Given the description of an element on the screen output the (x, y) to click on. 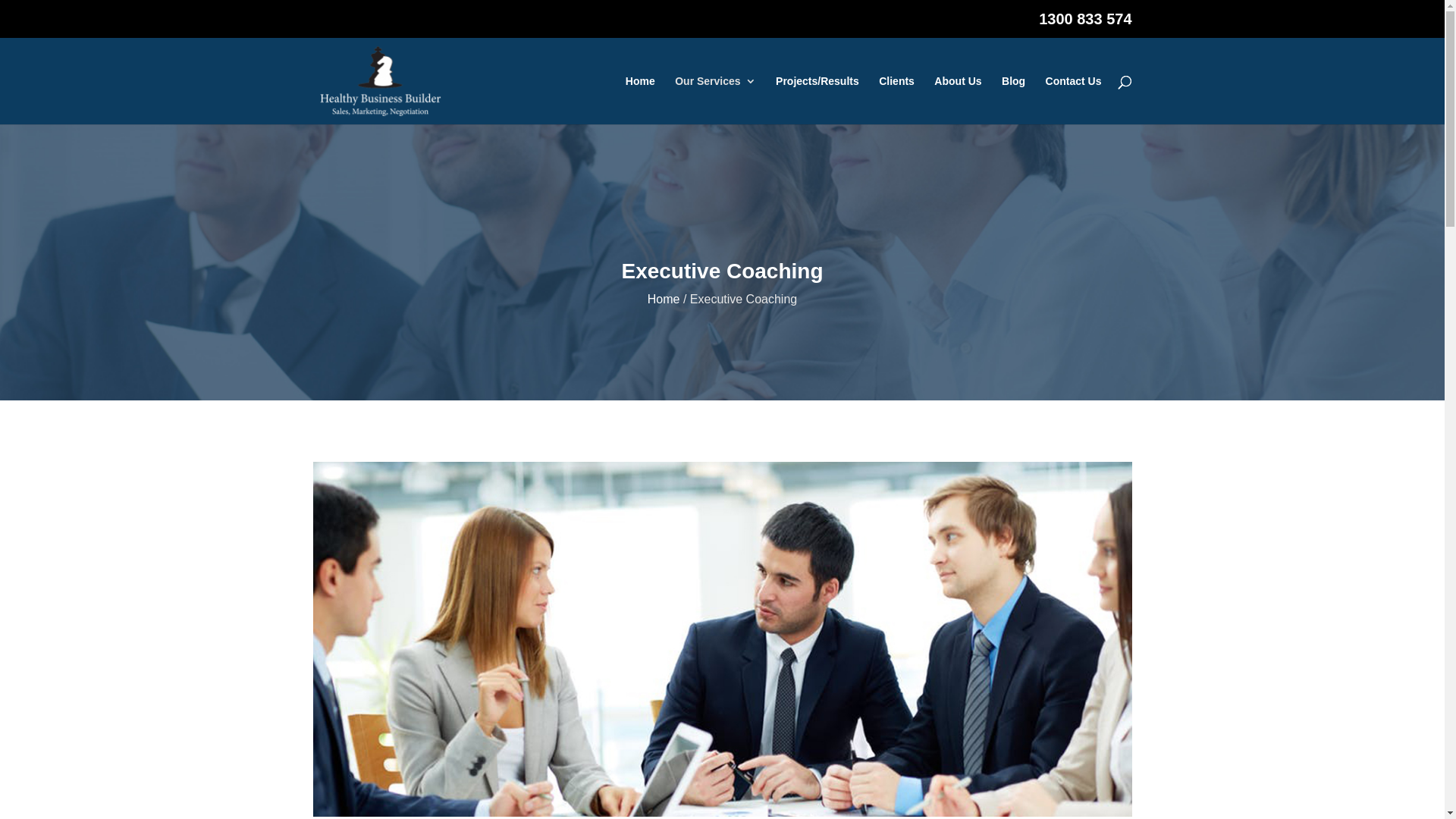
About Us Element type: text (957, 99)
Home Element type: text (640, 99)
1300 833 574 Element type: text (1084, 24)
Contact Us Element type: text (1073, 99)
Our Services Element type: text (714, 99)
Projects/Results Element type: text (817, 99)
Blog Element type: text (1013, 99)
Home Element type: text (663, 298)
Clients Element type: text (896, 99)
